Given the description of an element on the screen output the (x, y) to click on. 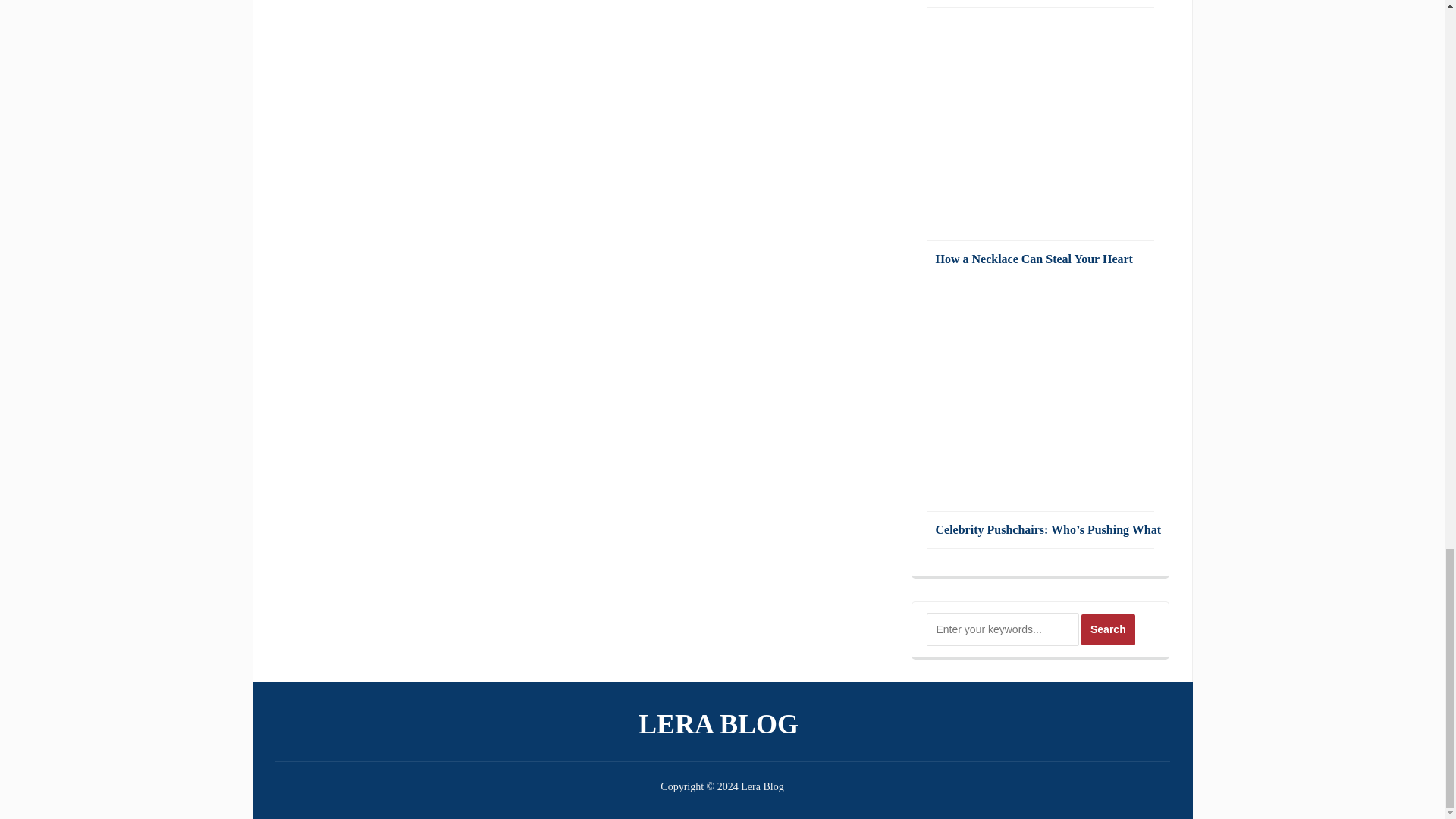
Search (1108, 629)
Search (1108, 629)
